Given the description of an element on the screen output the (x, y) to click on. 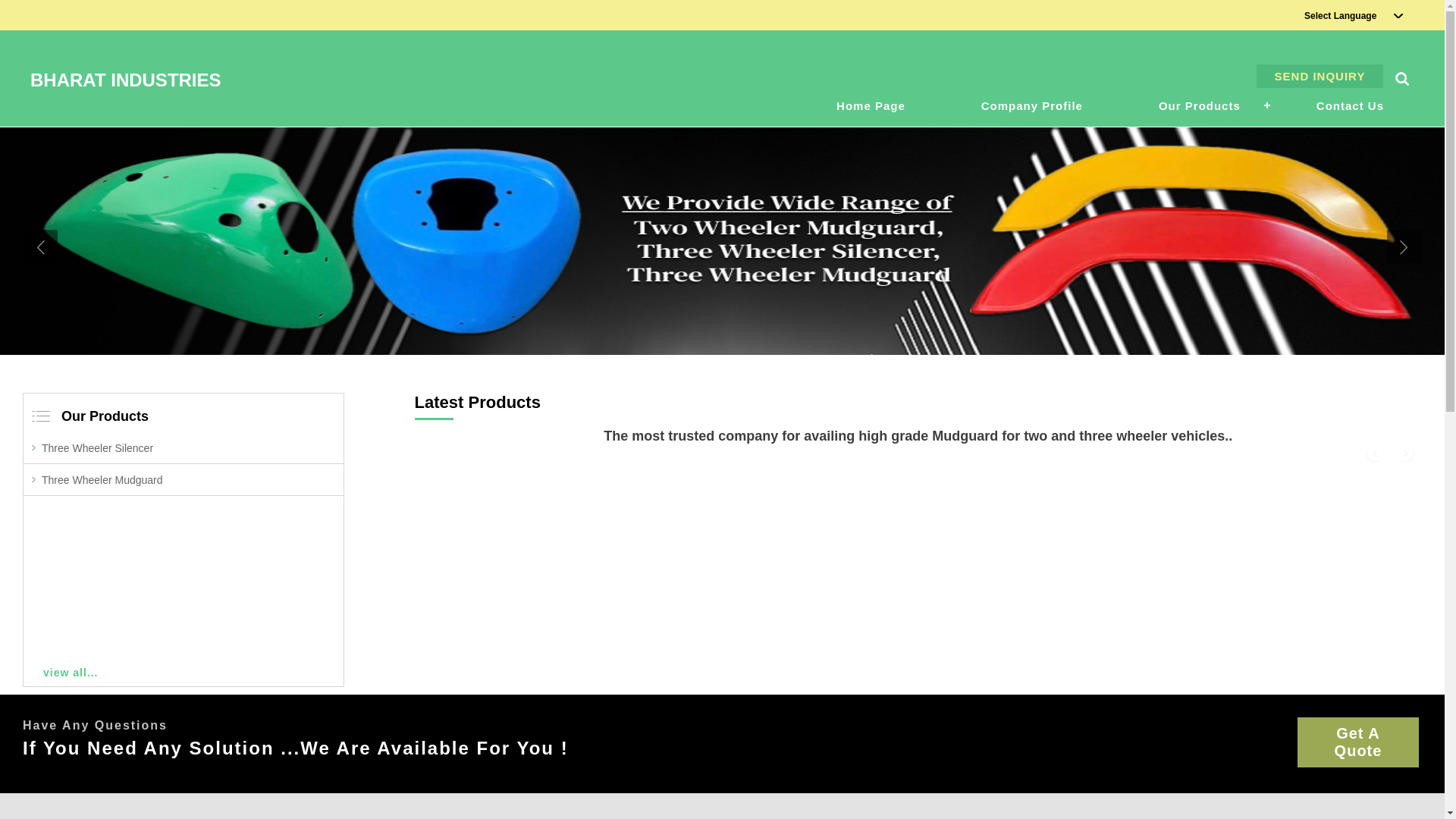
view all... Element type: text (183, 672)
Get A Quote Element type: text (1357, 742)
Contact Us Element type: text (1349, 105)
BHARAT INDUSTRIES Element type: text (125, 79)
Home Page Element type: text (870, 105)
Our Products Element type: text (104, 415)
Select Language Element type: text (1339, 15)
Three Wheeler Mudguard Element type: text (102, 479)
SEND INQUIRY Element type: text (1319, 75)
Company Profile Element type: text (1031, 105)
Three Wheeler Silencer Element type: text (97, 448)
Our Products Element type: text (1199, 105)
